Given the description of an element on the screen output the (x, y) to click on. 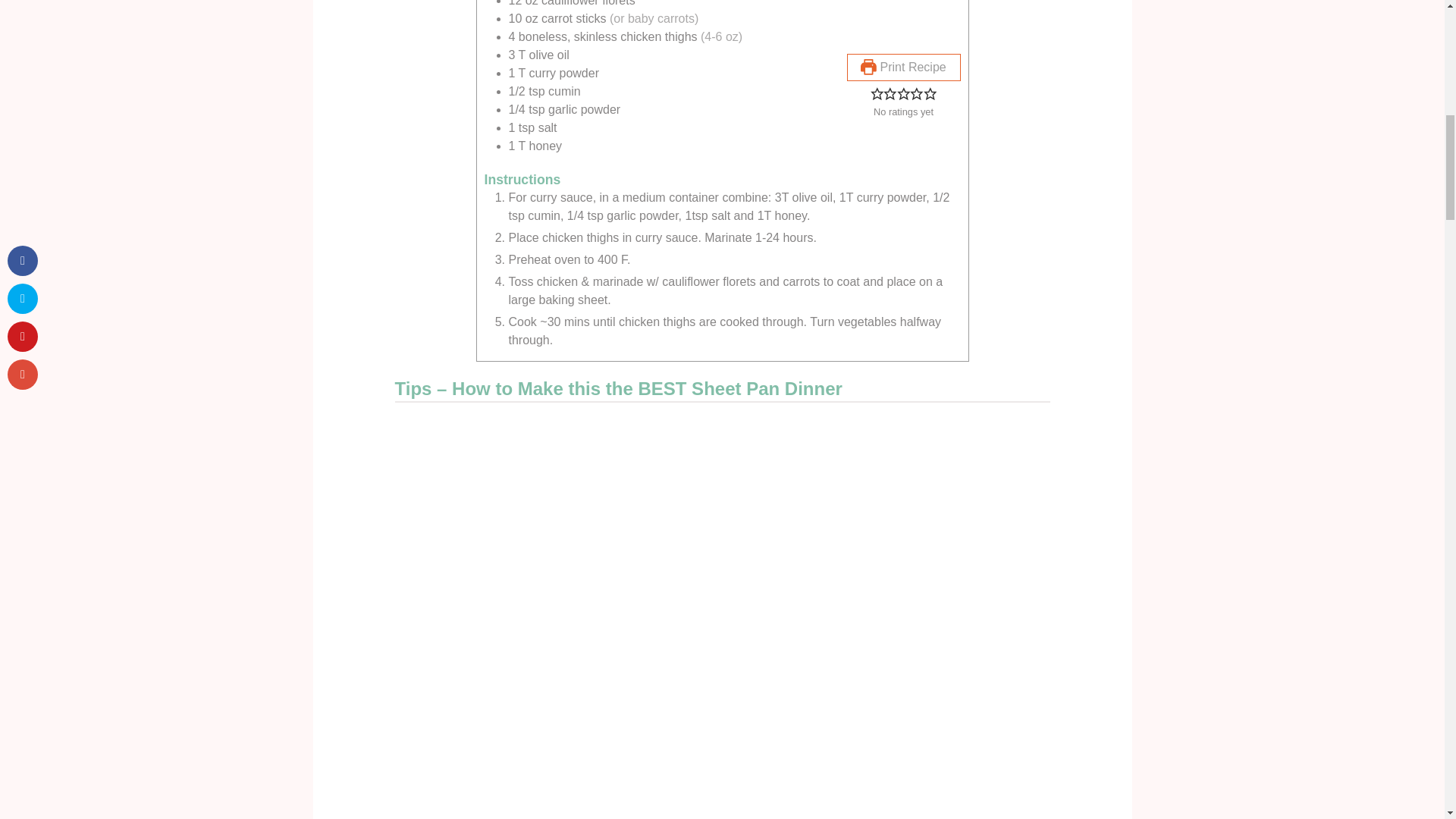
Print Recipe (902, 67)
